Given the description of an element on the screen output the (x, y) to click on. 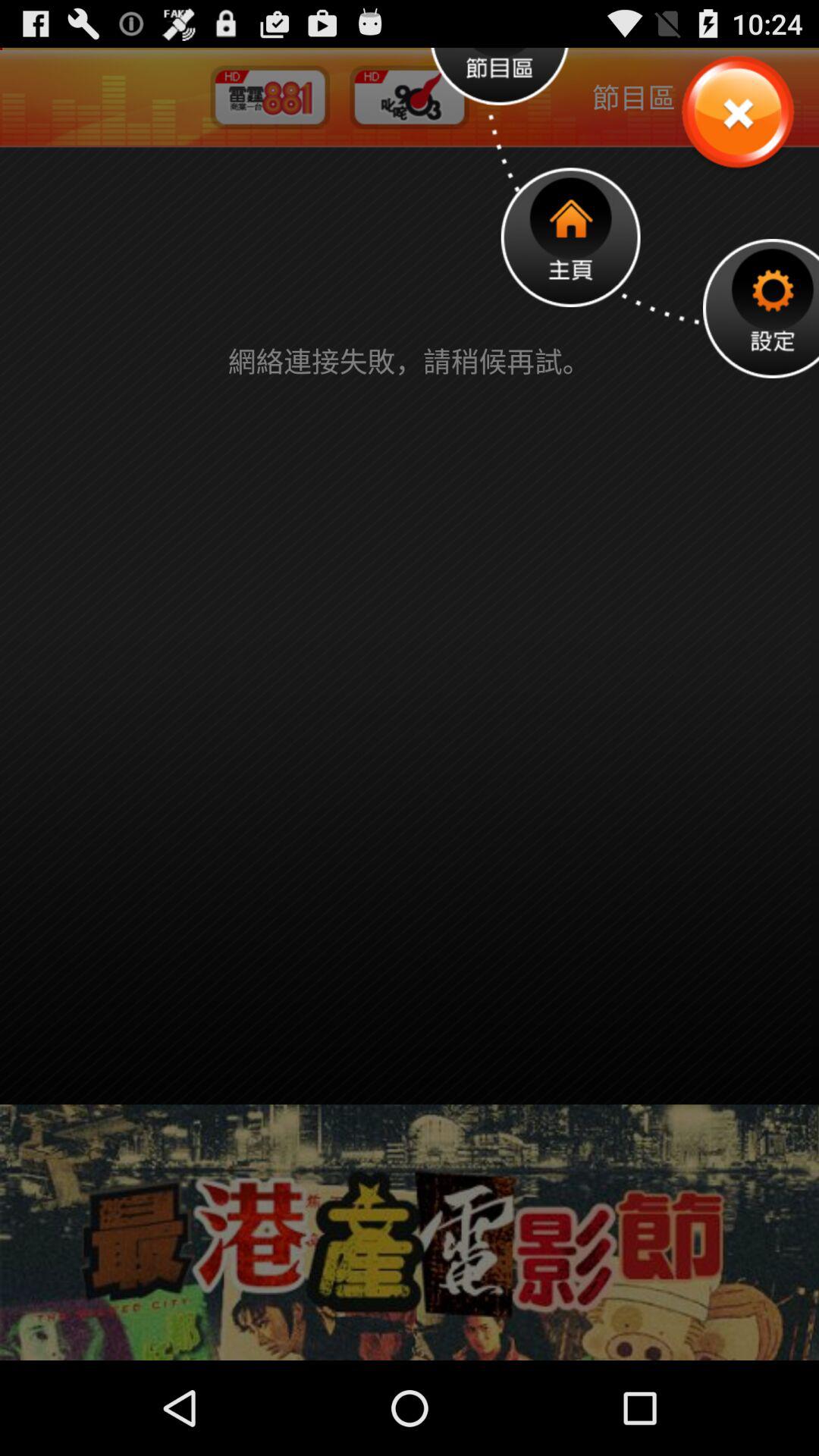
open home page (570, 237)
